Given the description of an element on the screen output the (x, y) to click on. 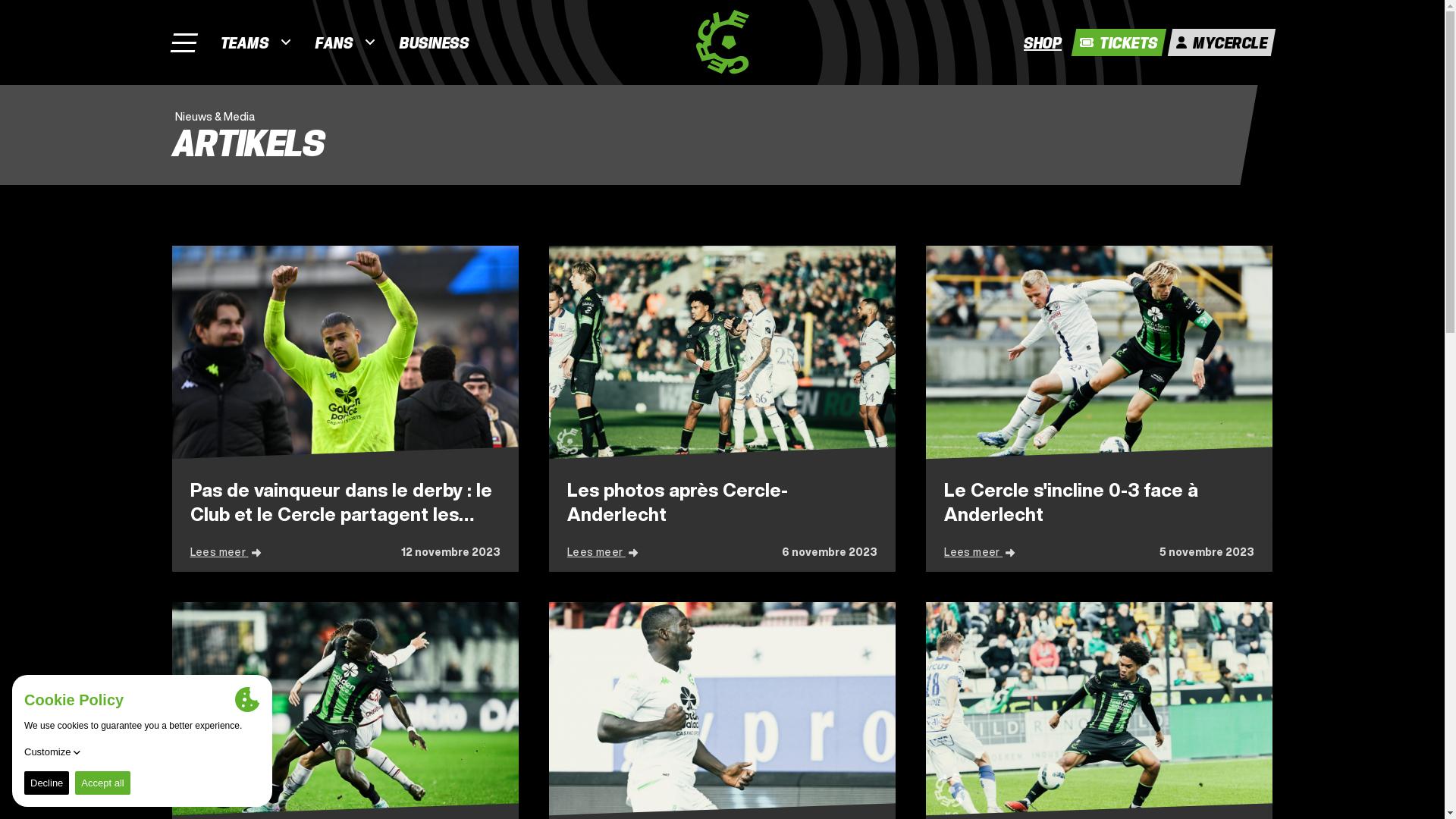
MYCERCLE Element type: text (1218, 42)
TICKETS Element type: text (1116, 42)
BUSINESS Element type: text (433, 42)
SHOP Element type: text (1040, 42)
